Given the description of an element on the screen output the (x, y) to click on. 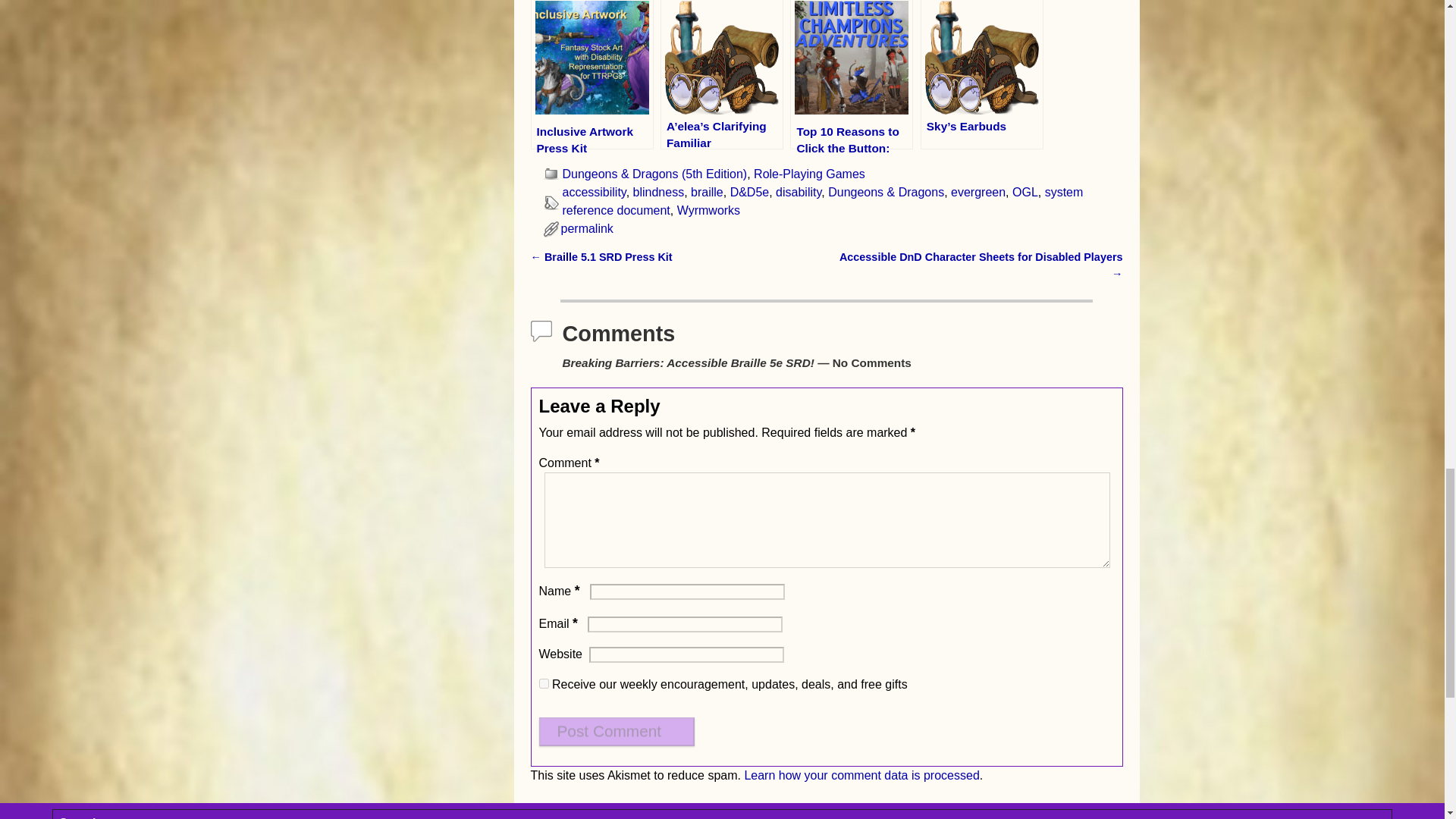
Permalink to Breaking Barriers: Accessible Braille 5e SRD! (586, 228)
Post Comment (616, 731)
1 (543, 683)
